Given the description of an element on the screen output the (x, y) to click on. 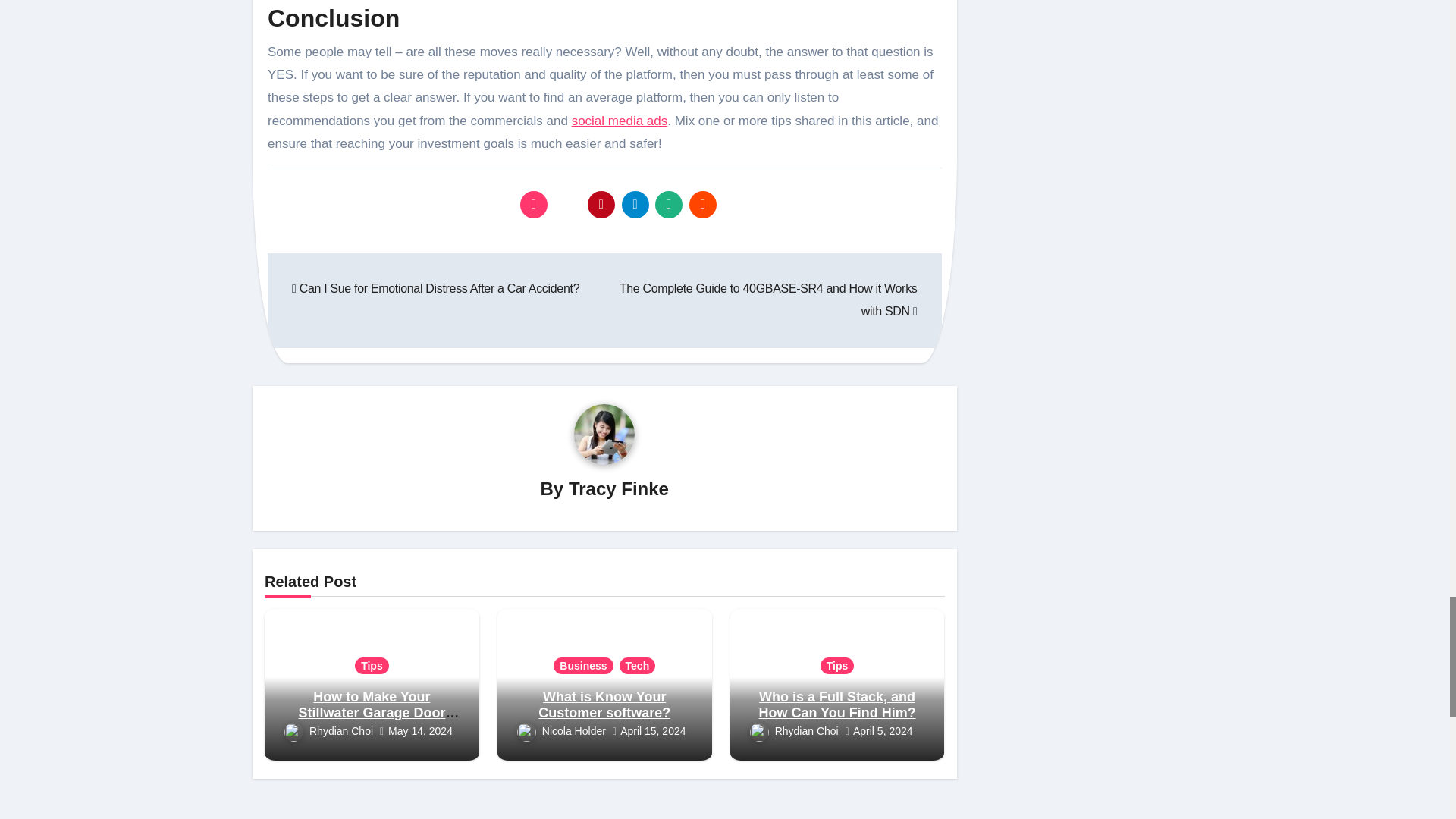
social media ads (620, 120)
Permalink to: What is Know Your Customer software? (603, 705)
